Given the description of an element on the screen output the (x, y) to click on. 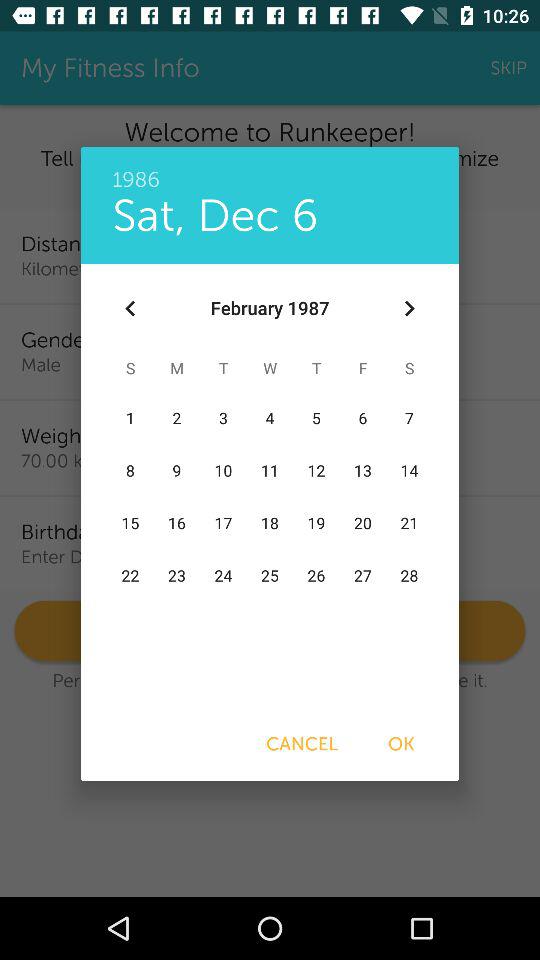
launch icon to the right of the cancel icon (401, 743)
